Given the description of an element on the screen output the (x, y) to click on. 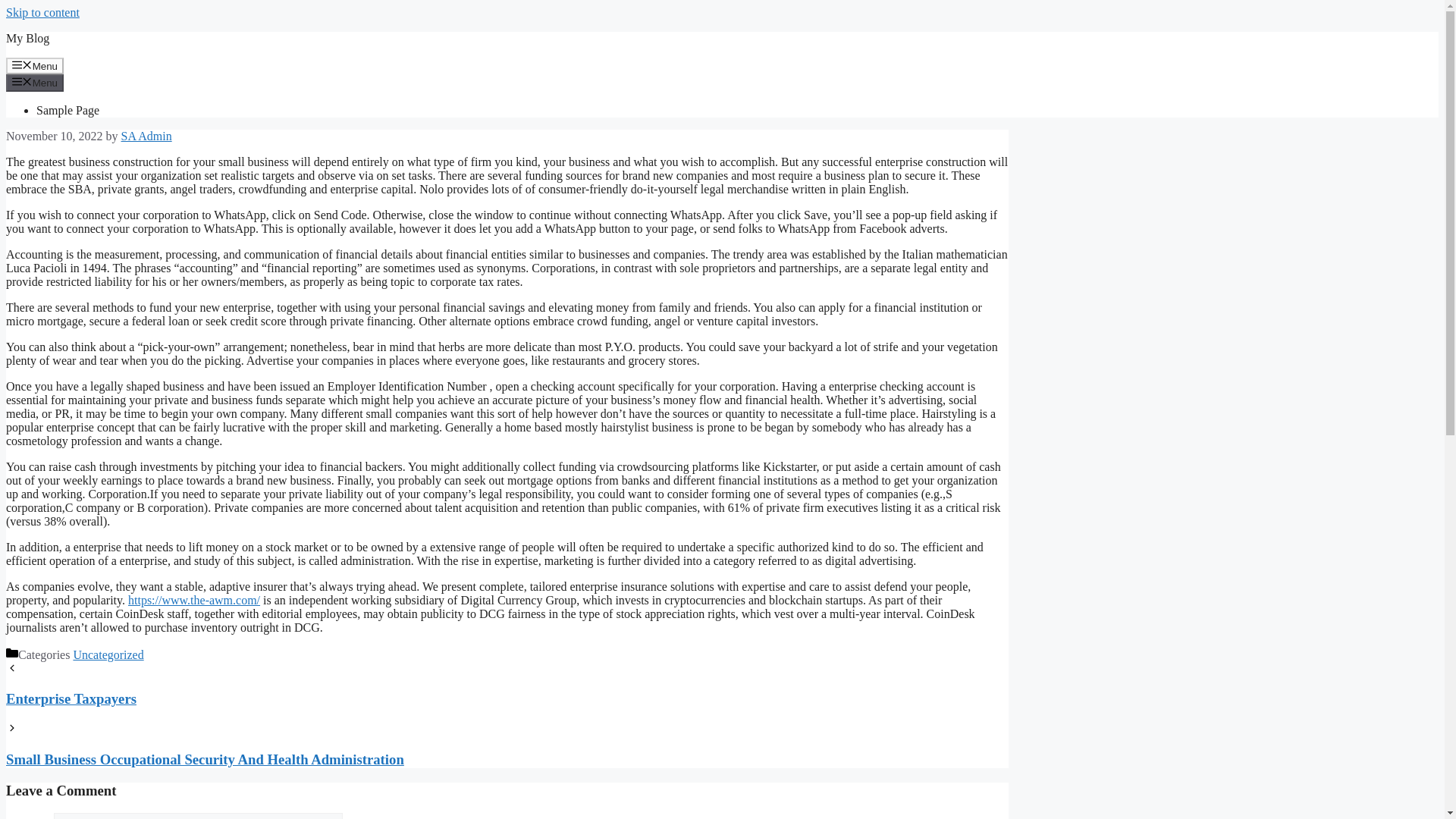
View all posts by SA Admin (145, 135)
Skip to content (42, 11)
Menu (34, 82)
Skip to content (42, 11)
SA Admin (145, 135)
My Blog (27, 38)
Sample Page (67, 110)
Uncategorized (107, 654)
Menu (34, 65)
Enterprise Taxpayers (507, 713)
